Given the description of an element on the screen output the (x, y) to click on. 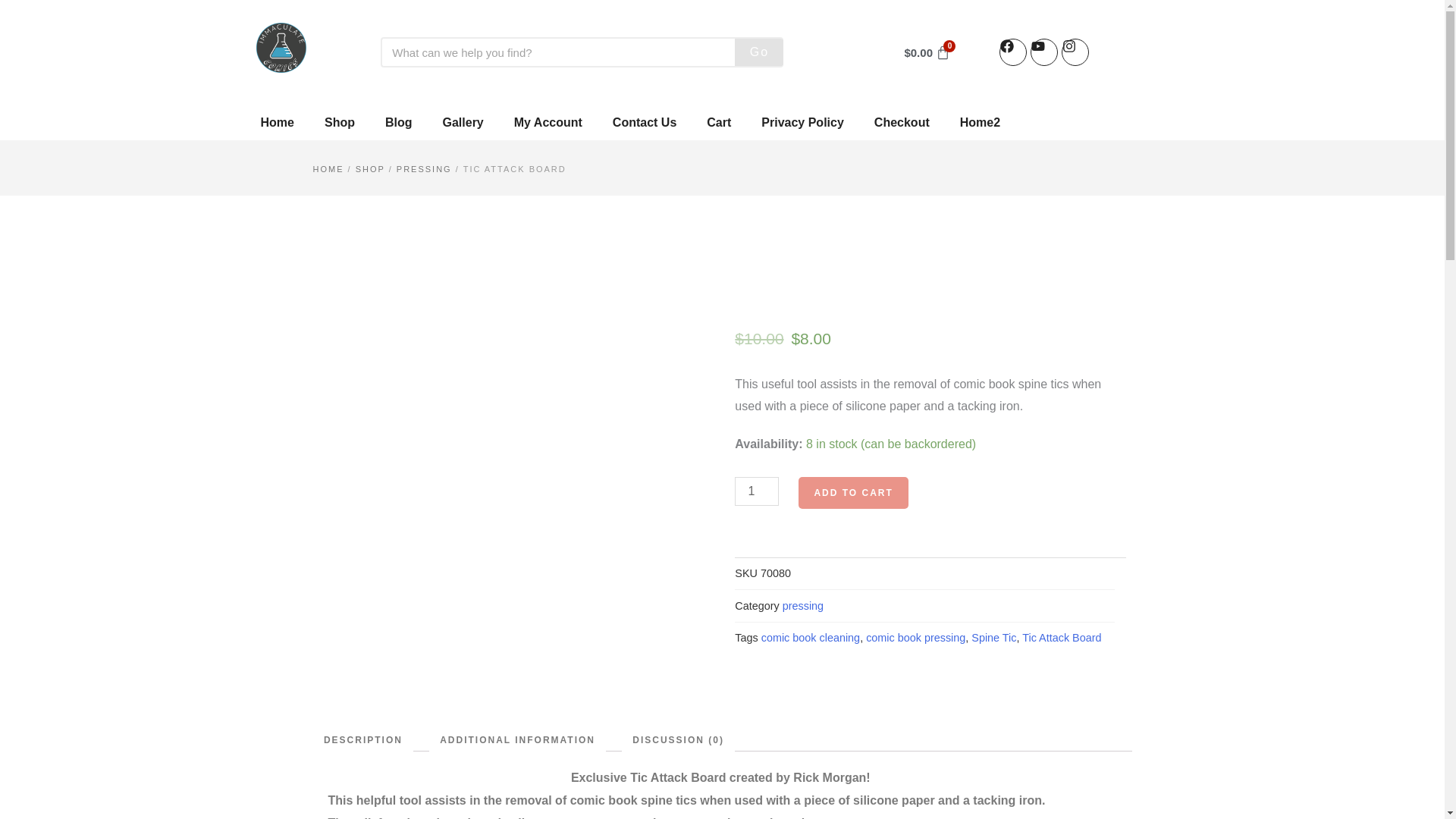
SHOP (370, 168)
Youtube (1044, 52)
HOME (328, 168)
Contact Us (643, 122)
Privacy Policy (802, 122)
Shop (338, 122)
1 (756, 491)
Blog (398, 122)
Gallery (463, 122)
Instagram (1075, 52)
